Given the description of an element on the screen output the (x, y) to click on. 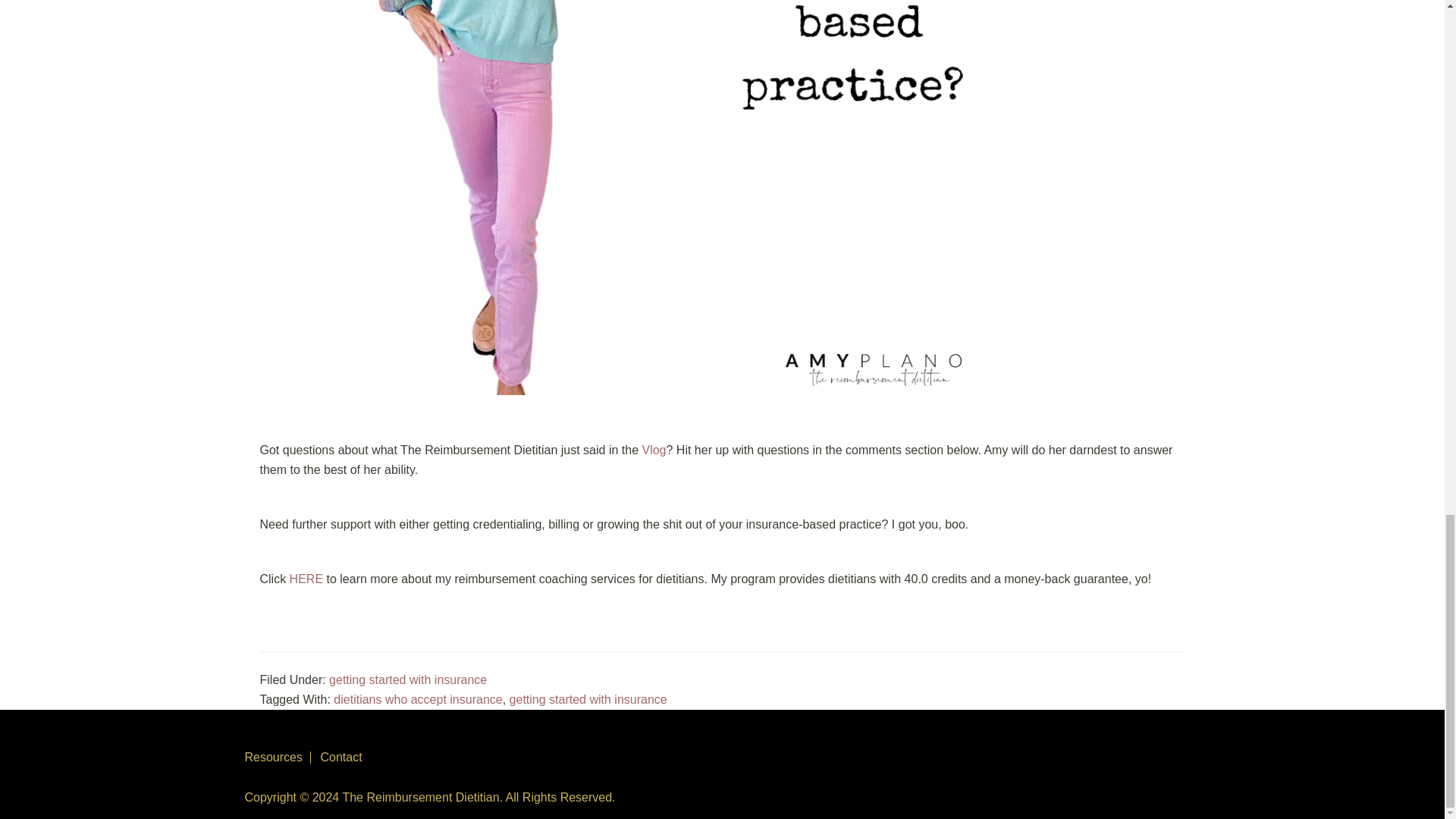
getting started with insurance (407, 679)
HERE (306, 578)
dietitians who accept insurance (417, 698)
Vlog (653, 449)
Resources (272, 757)
getting started with insurance (587, 698)
